Given the description of an element on the screen output the (x, y) to click on. 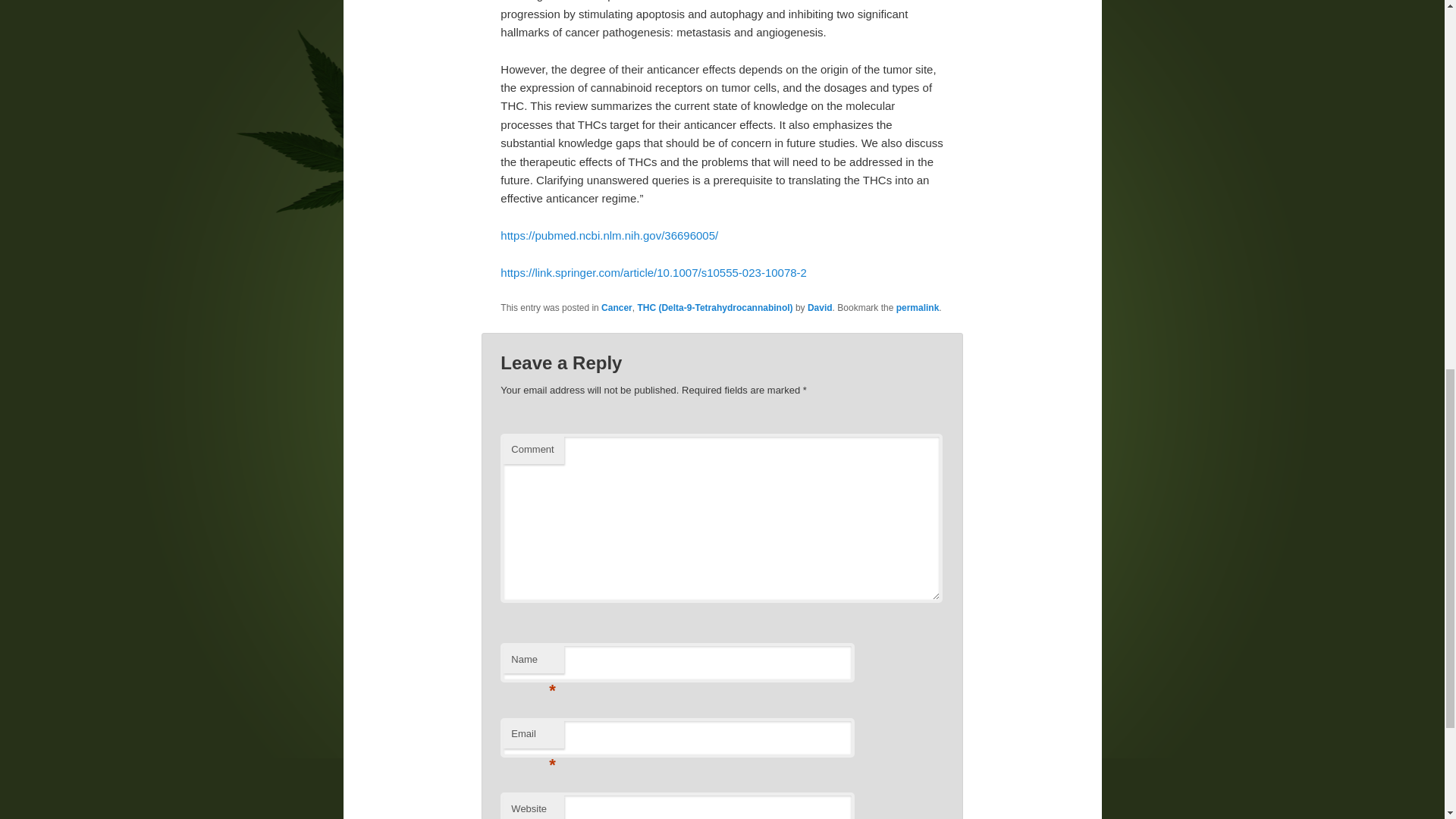
David (820, 307)
permalink (917, 307)
Cancer (616, 307)
